Given the description of an element on the screen output the (x, y) to click on. 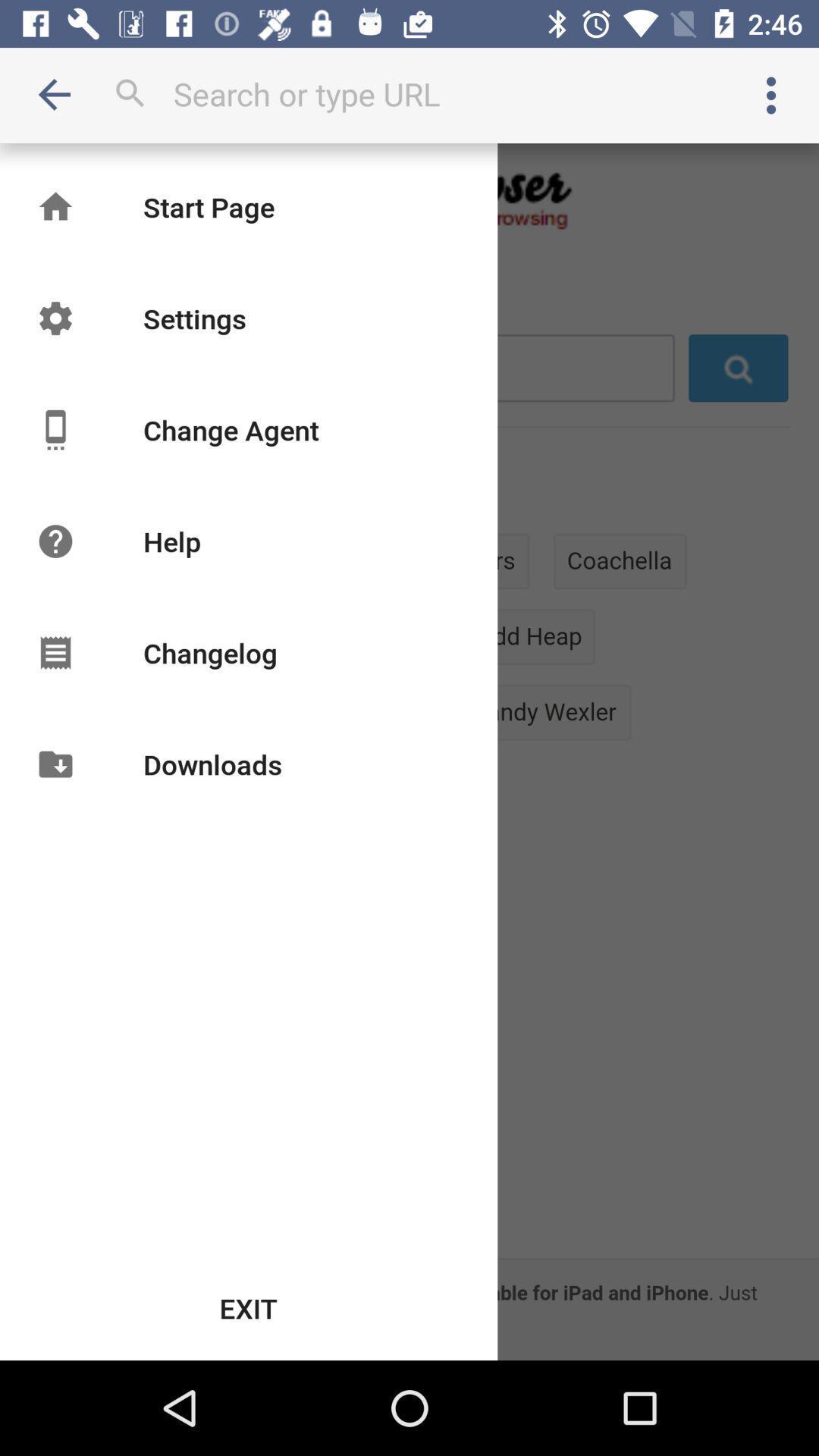
scroll to the settings icon (194, 318)
